Given the description of an element on the screen output the (x, y) to click on. 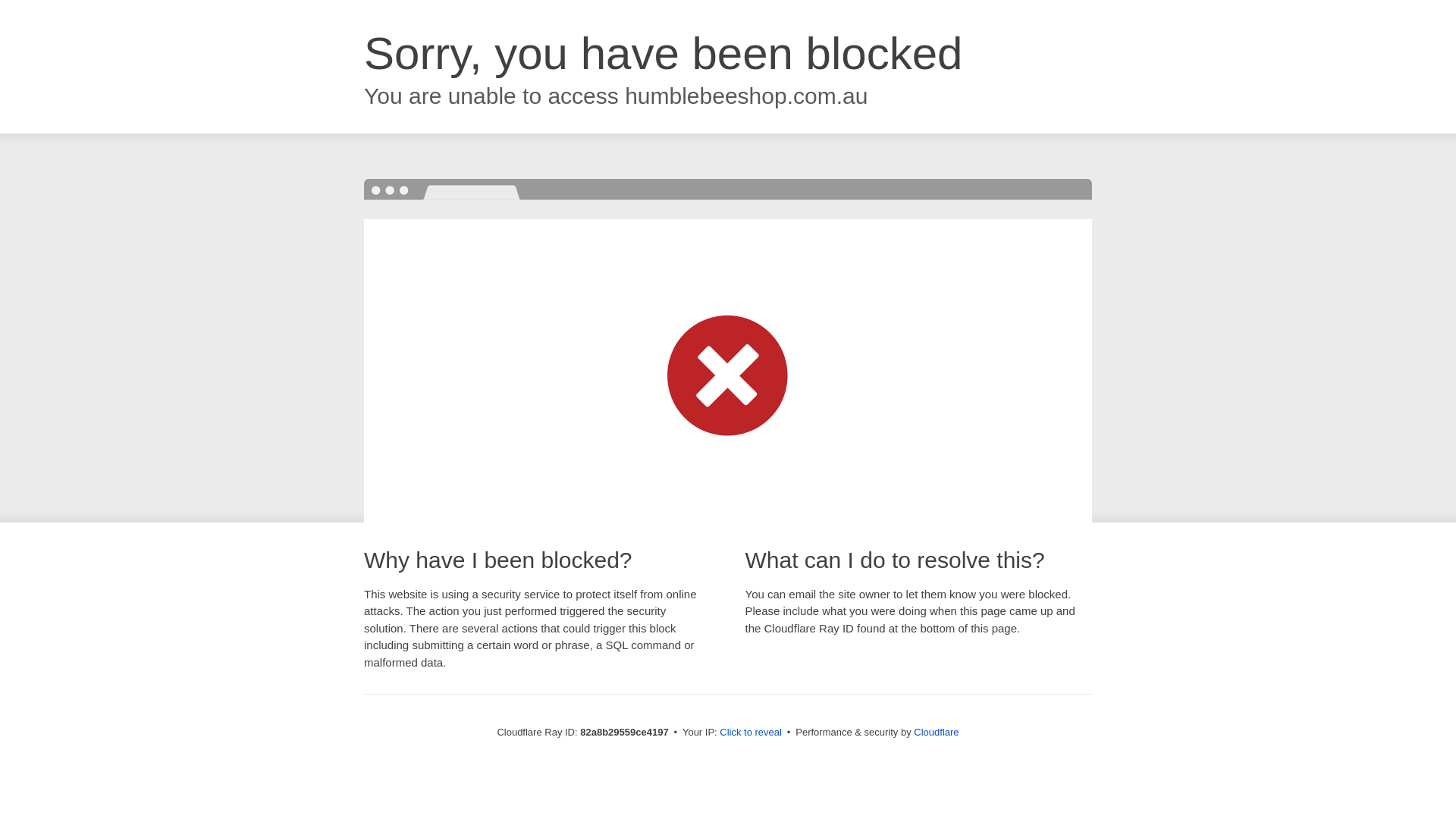
Click to reveal Element type: text (750, 732)
Cloudflare Element type: text (935, 731)
